Given the description of an element on the screen output the (x, y) to click on. 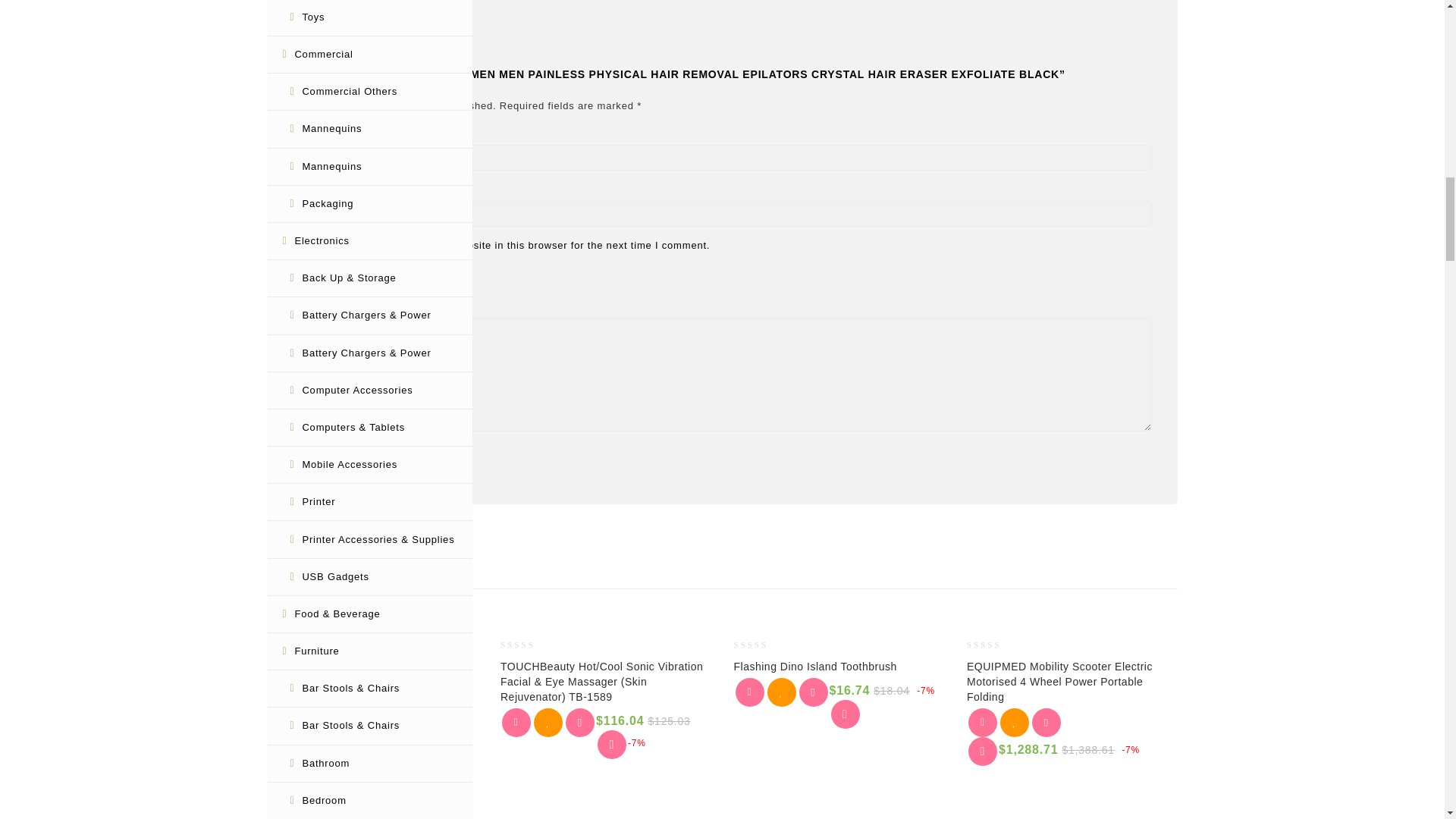
Submit (330, 454)
Not yet rated (993, 644)
Not yet rated (526, 644)
yes (300, 243)
Not yet rated (760, 644)
